Given the description of an element on the screen output the (x, y) to click on. 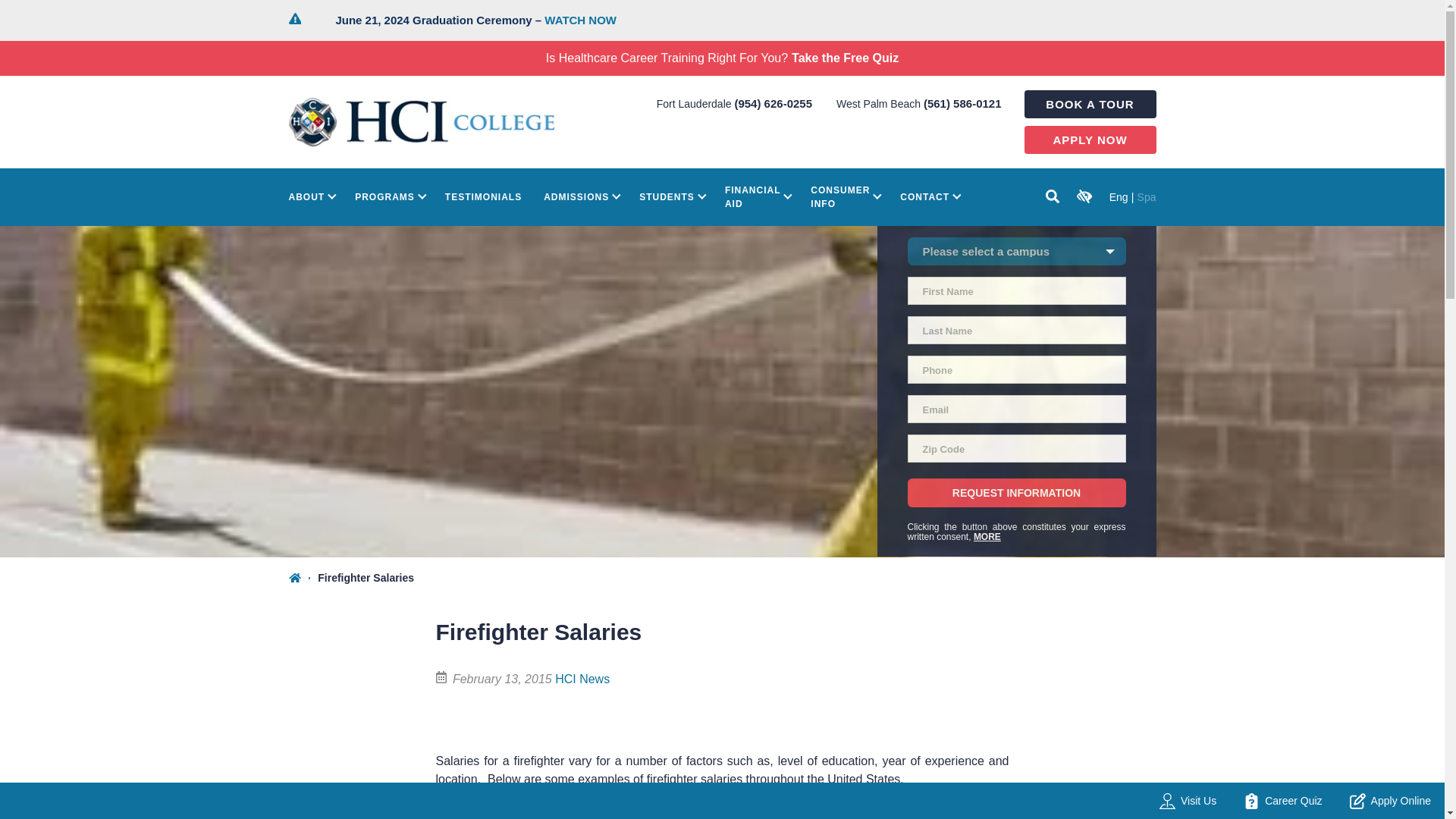
BOOK A TOUR (1089, 103)
Take the Free Quiz (845, 57)
Spanish (1146, 196)
TESTIMONIALS (483, 197)
English (1118, 196)
ADMISSIONS (580, 197)
WATCH NOW (579, 19)
HCI College (421, 122)
PROGRAMS (389, 197)
APPLY NOW (1089, 139)
